Given the description of an element on the screen output the (x, y) to click on. 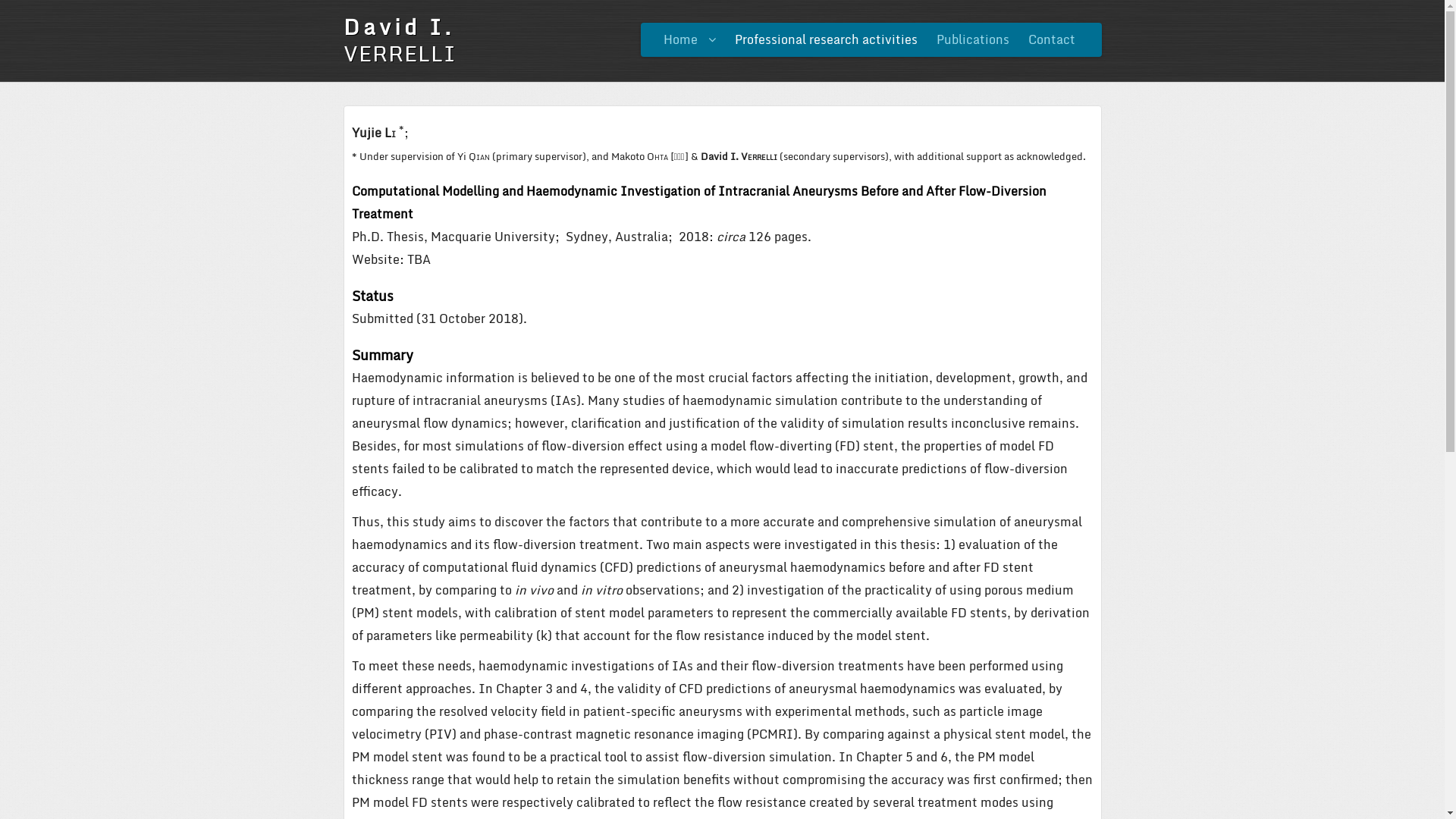
Publications Element type: text (972, 39)
Home Element type: text (688, 39)
Professional research activities Element type: text (825, 39)
Contact Element type: text (1051, 39)
